Given the description of an element on the screen output the (x, y) to click on. 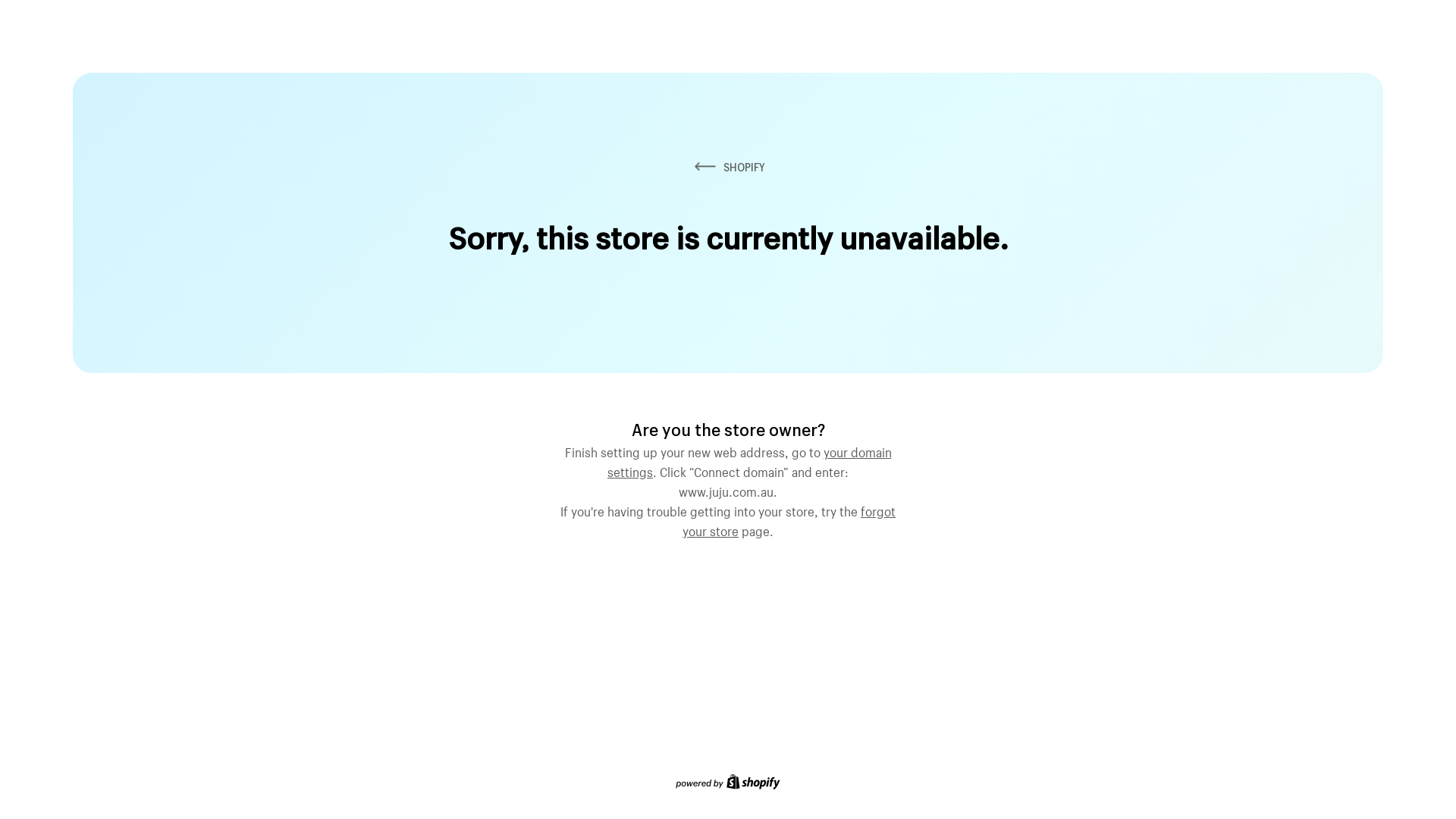
your domain settings Element type: text (749, 460)
forgot your store Element type: text (788, 519)
SHOPIFY Element type: text (727, 167)
